Given the description of an element on the screen output the (x, y) to click on. 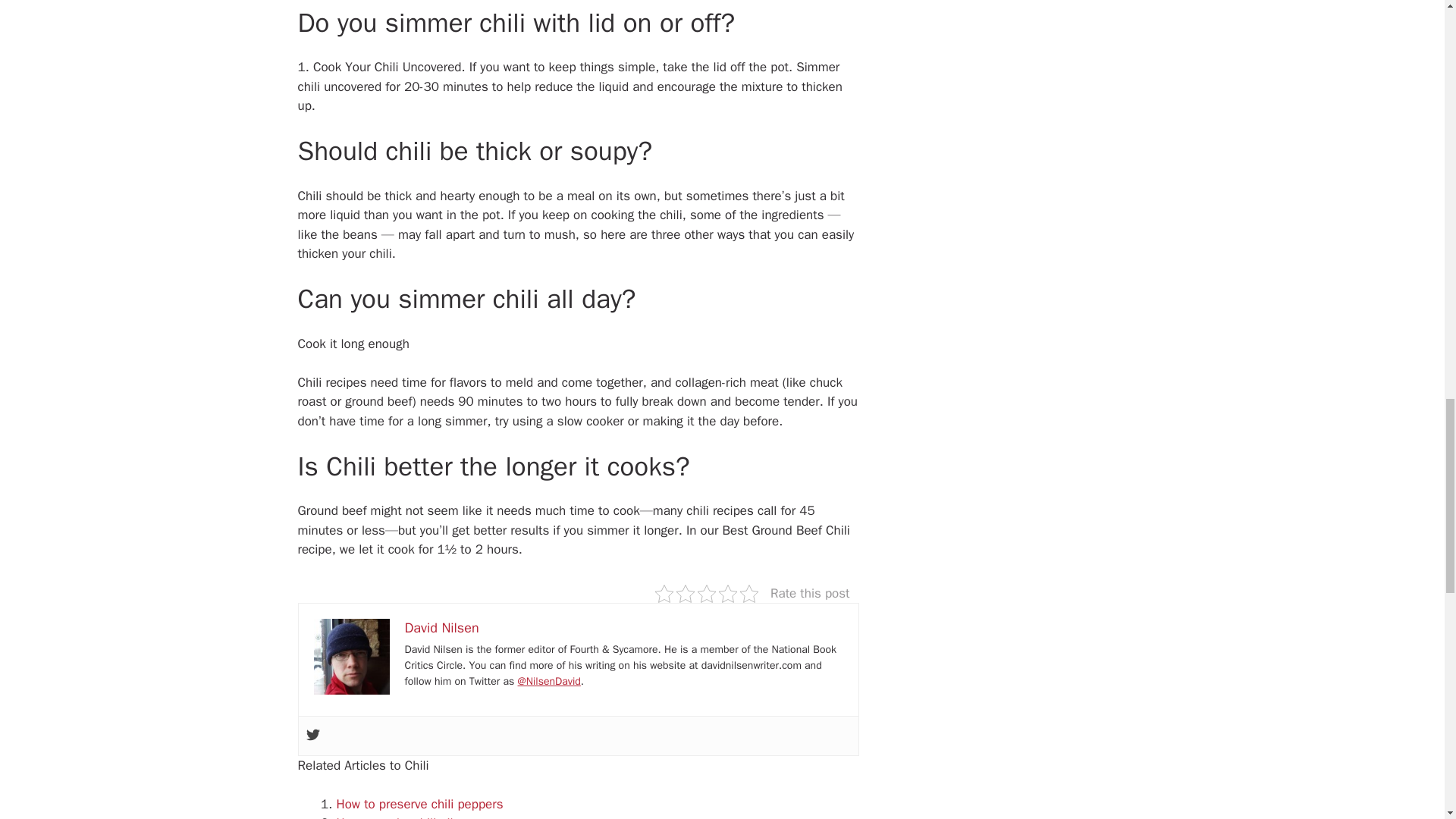
David Nilsen (441, 627)
How to preserve chili peppers (419, 804)
How to make chili oil (394, 816)
